Given the description of an element on the screen output the (x, y) to click on. 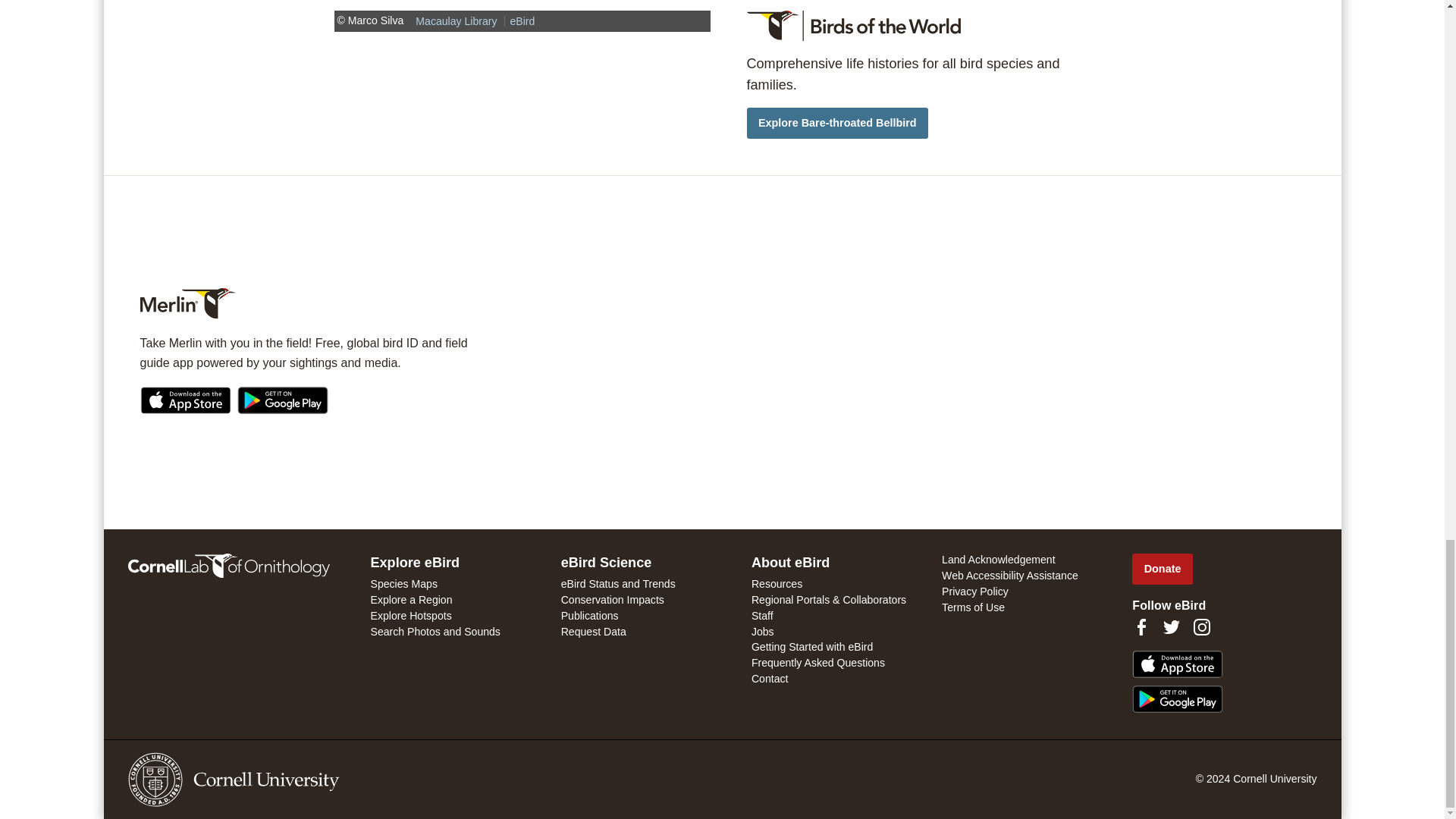
Follow us on Instagram (1201, 627)
Find us on Facebook (1141, 627)
Follow us on Twitter (1170, 627)
